Given the description of an element on the screen output the (x, y) to click on. 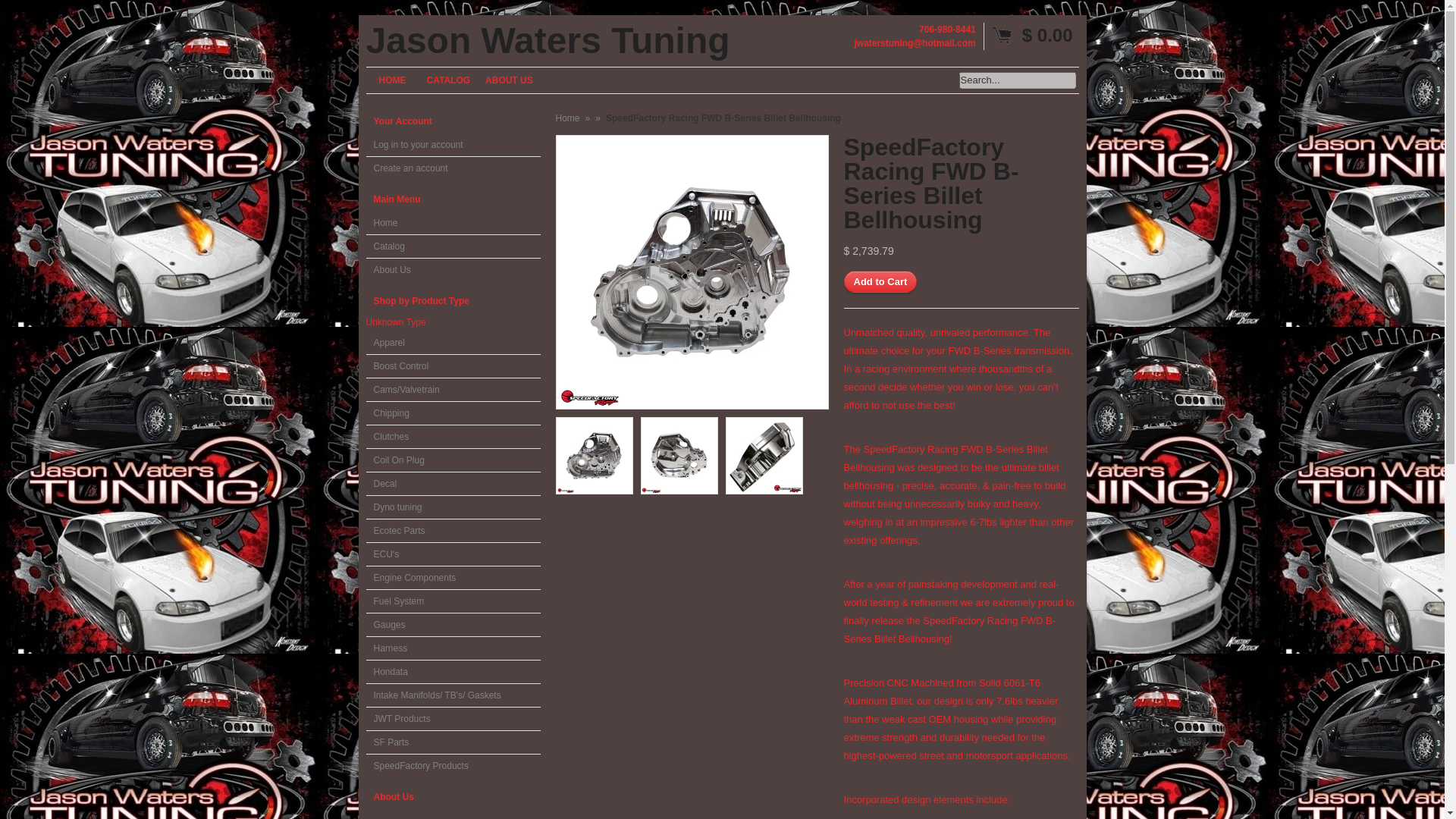
SpeedFactory Products (452, 765)
CATALOG (448, 80)
Ecotec Parts (452, 530)
Chipping (452, 413)
Clutches (452, 436)
Engine Components (452, 577)
Dyno tuning (452, 507)
Add to Cart (880, 281)
Home (452, 223)
ECU's (452, 554)
Home (566, 117)
Catalog (452, 246)
Apparel (452, 342)
Decal (452, 484)
HOME (392, 80)
